Given the description of an element on the screen output the (x, y) to click on. 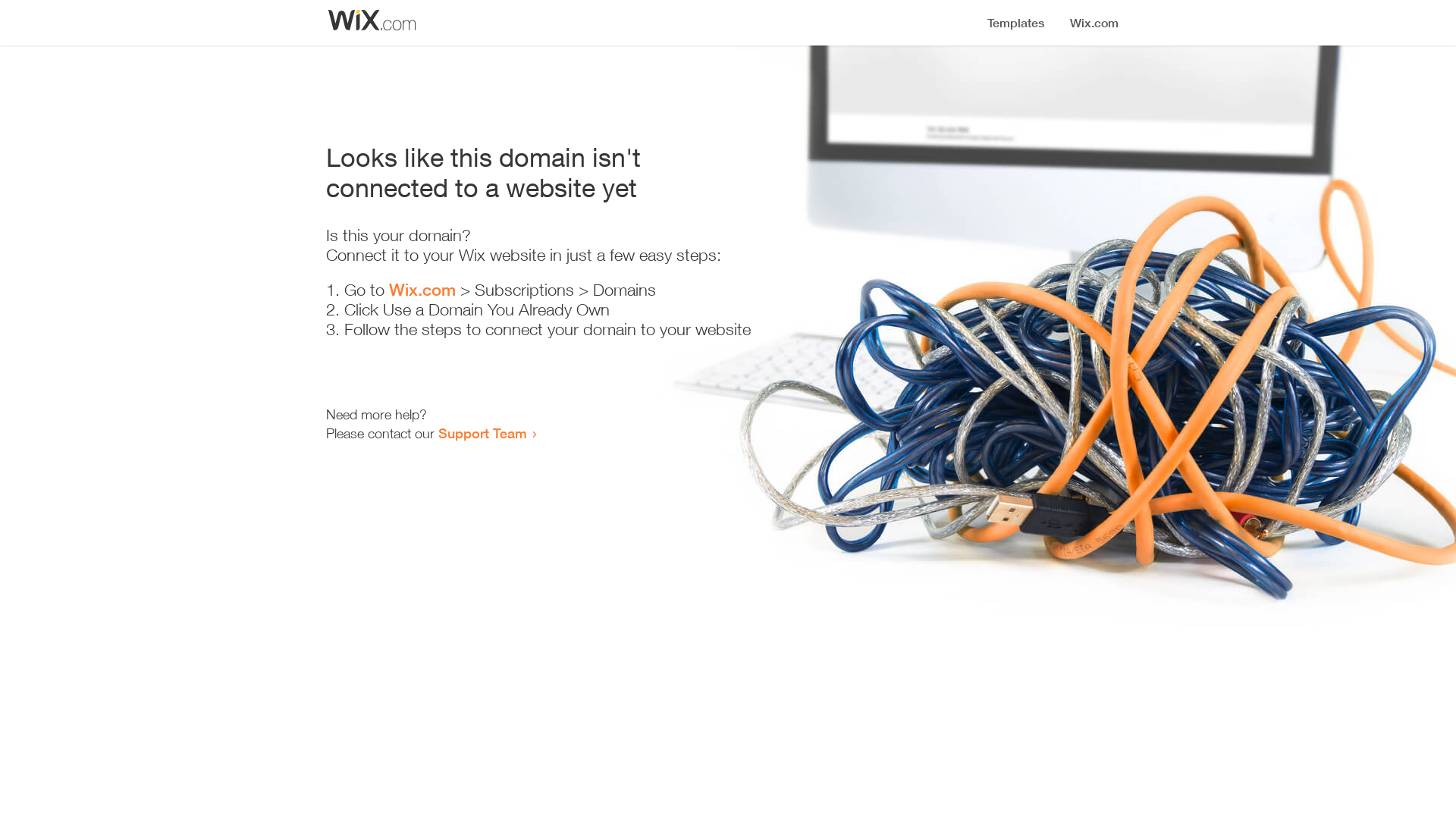
Wix.com Element type: text (422, 289)
Support Team Element type: text (482, 432)
